Given the description of an element on the screen output the (x, y) to click on. 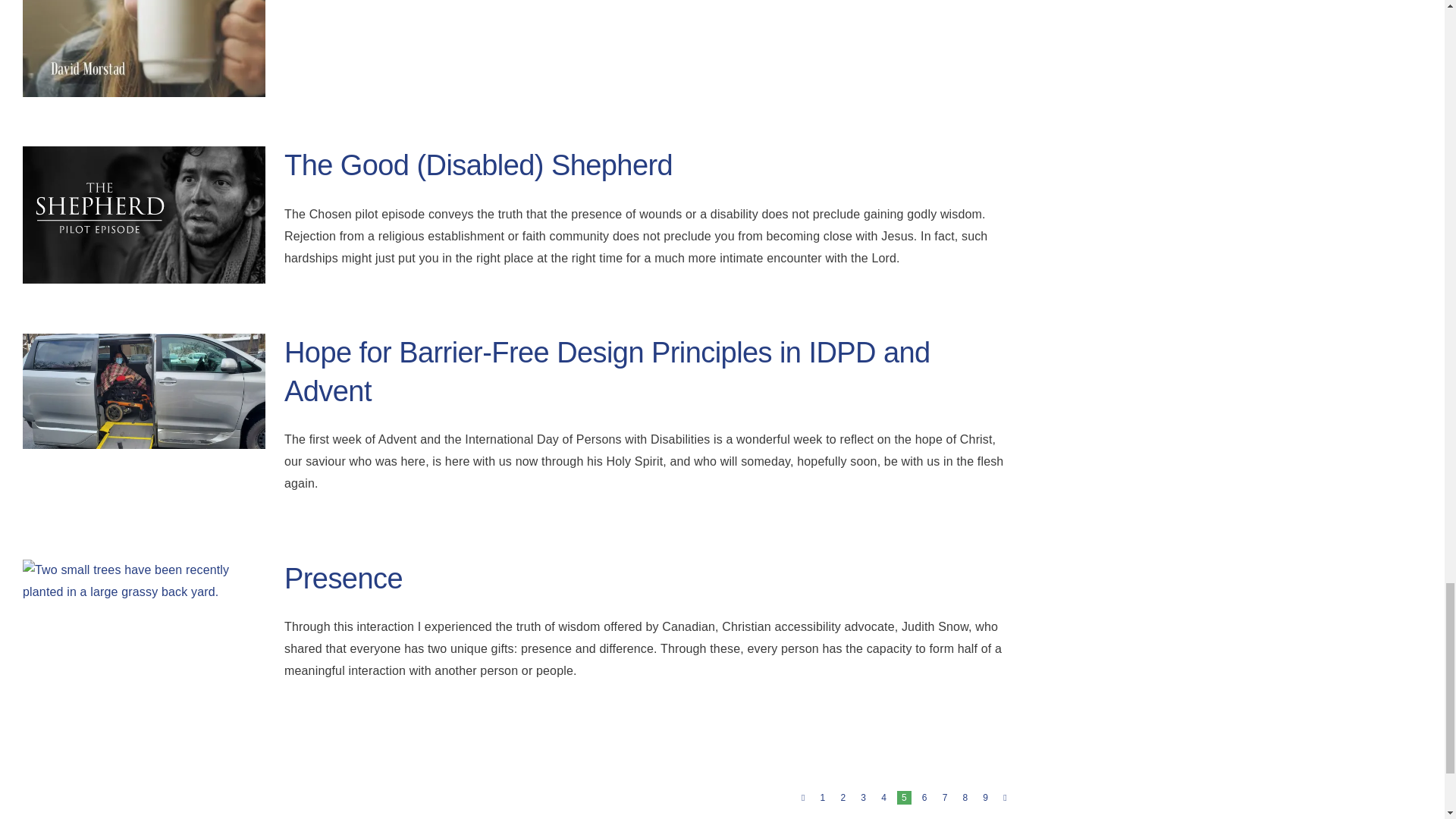
4 (883, 797)
2 (842, 797)
6 (924, 797)
8 (965, 797)
9 (985, 797)
Hope for Barrier-Free Design Principles in IDPD and Advent (606, 371)
3 (863, 797)
1 (822, 797)
7 (944, 797)
Presence (343, 578)
